Given the description of an element on the screen output the (x, y) to click on. 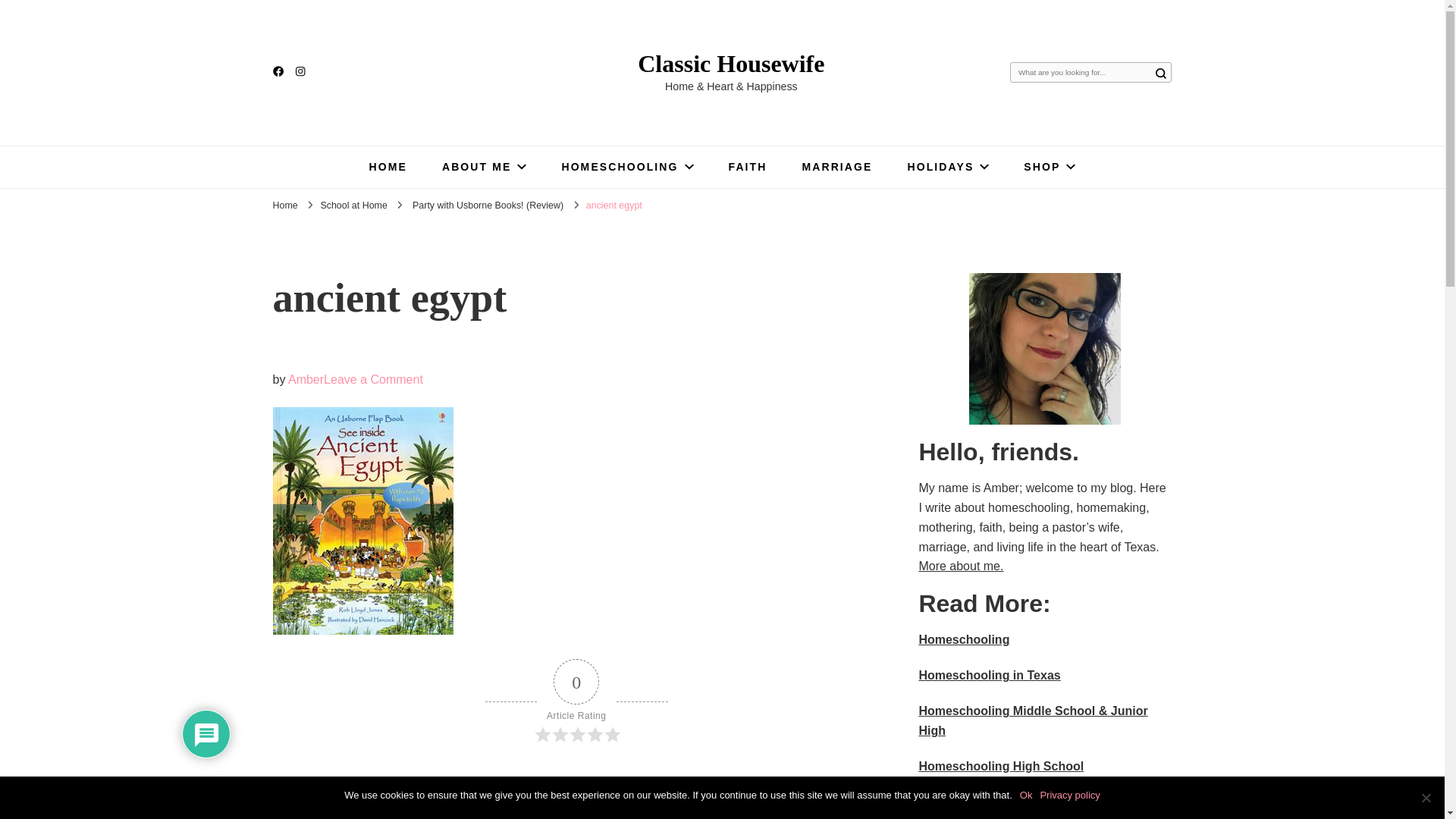
Search (1161, 72)
Search (1161, 72)
